Given the description of an element on the screen output the (x, y) to click on. 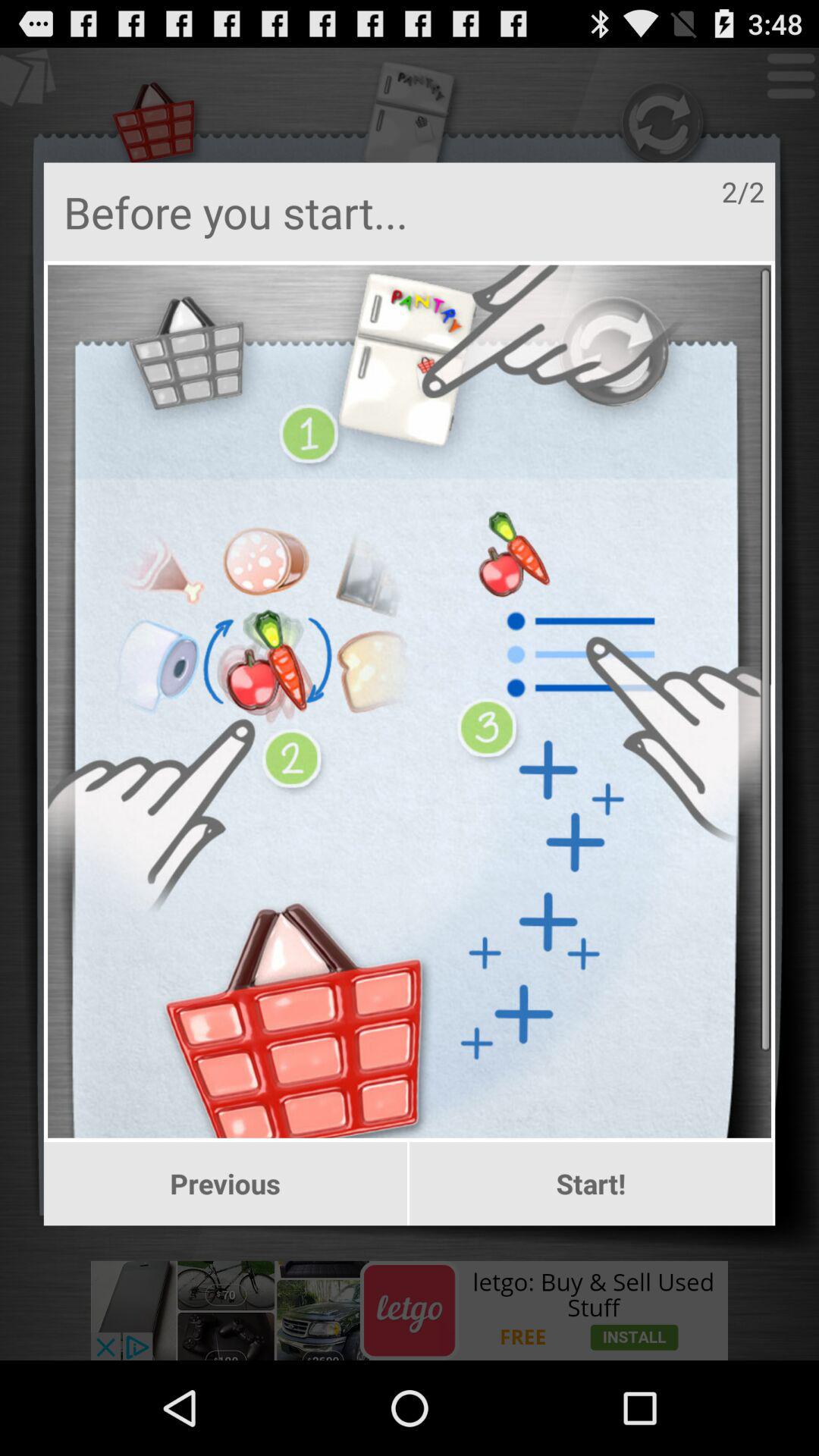
press item to the right of the previous (590, 1183)
